Given the description of an element on the screen output the (x, y) to click on. 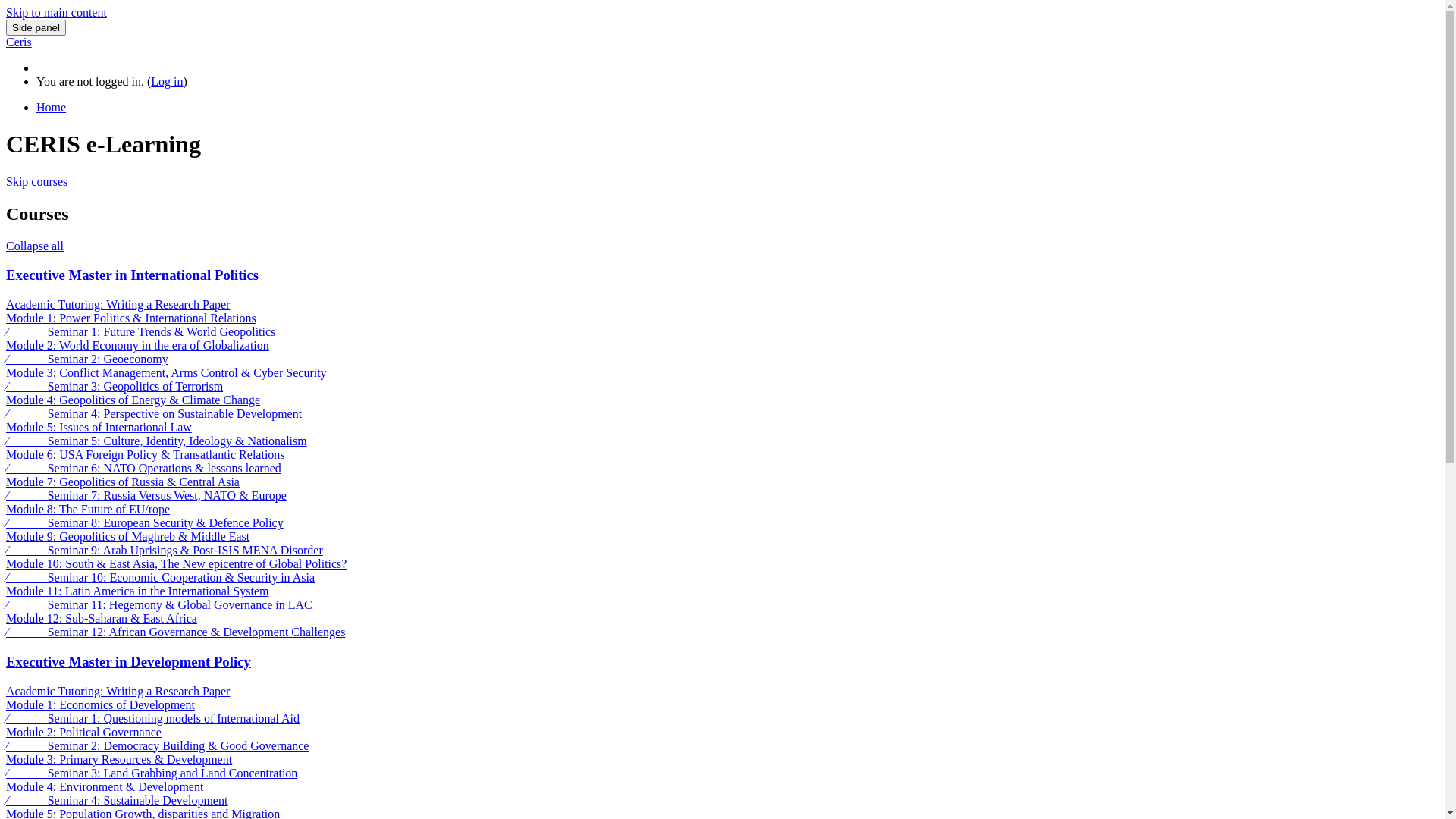
Module 7: Geopolitics of Russia & Central Asia Element type: text (122, 481)
Skip to main content Element type: text (56, 12)
Academic Tutoring: Writing a Research Paper Element type: text (117, 690)
Log in Element type: text (166, 81)
Collapse all Element type: text (34, 245)
Module 3: Conflict Management, Arms Control & Cyber Security Element type: text (166, 372)
Module 2: Political Governance Element type: text (83, 731)
Module 9: Geopolitics of Maghreb & Middle East Element type: text (127, 536)
Module 6: USA Foreign Policy & Transatlantic Relations Element type: text (145, 454)
Executive Master in International Politics Element type: text (132, 274)
Module 1: Economics of Development Element type: text (100, 704)
Ceris Element type: text (18, 41)
Module 5: Issues of International Law Element type: text (98, 426)
Module 2: World Economy in the era of Globalization Element type: text (137, 344)
Module 8: The Future of EU/rope Element type: text (87, 508)
Skip courses Element type: text (36, 181)
Module 11: Latin America in the International System Element type: text (137, 590)
Module 3: Primary Resources & Development Element type: text (119, 759)
Home Element type: text (737, 107)
Module 1: Power Politics & International Relations Element type: text (131, 317)
Module 12: Sub-Saharan & East Africa Element type: text (101, 617)
Executive Master in Development Policy Element type: text (128, 661)
Module 4: Environment & Development Element type: text (104, 786)
Module 4: Geopolitics of Energy & Climate Change Element type: text (133, 399)
Side panel Element type: text (35, 27)
Academic Tutoring: Writing a Research Paper Element type: text (117, 304)
